Given the description of an element on the screen output the (x, y) to click on. 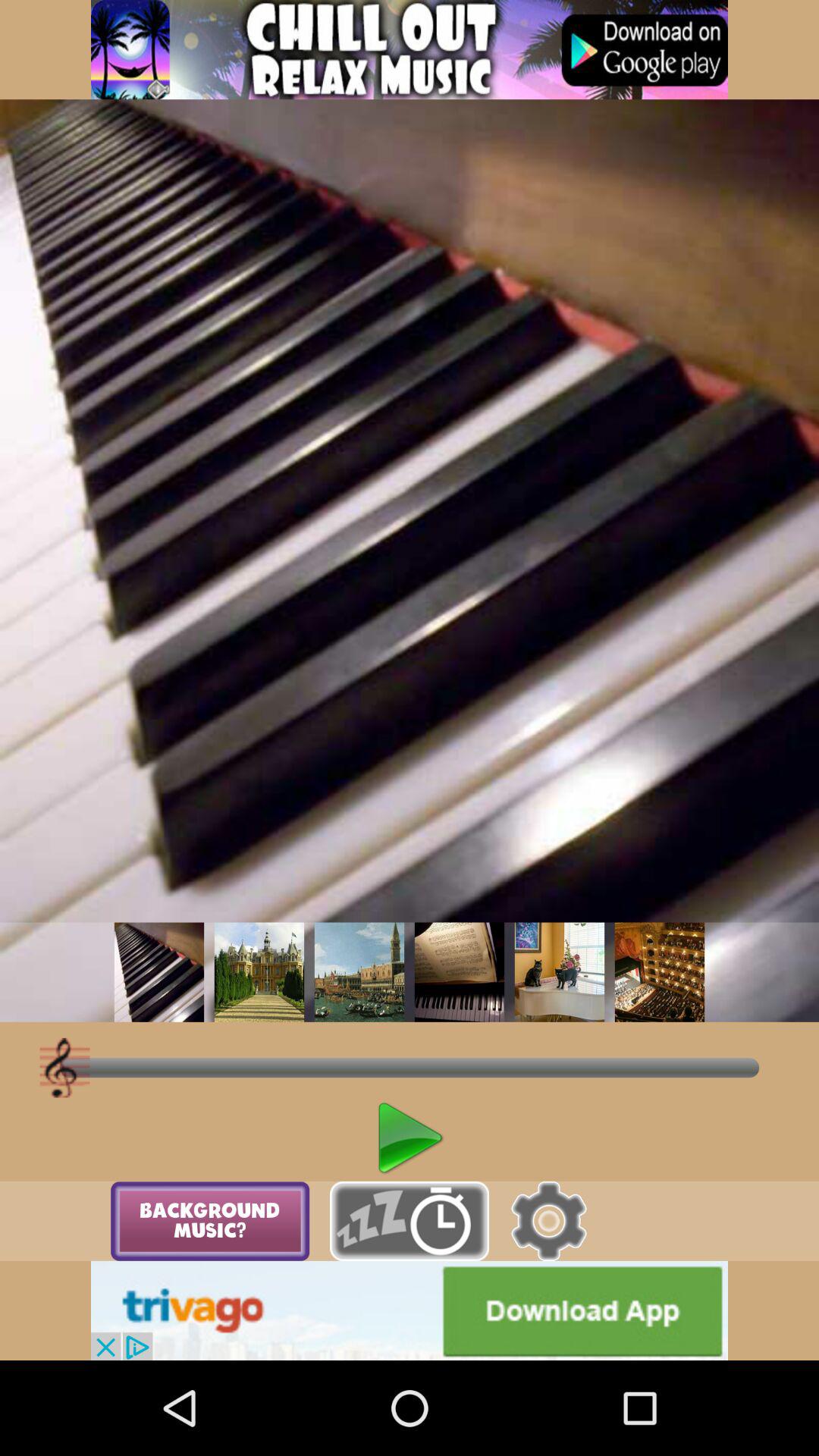
download app (409, 1310)
